Given the description of an element on the screen output the (x, y) to click on. 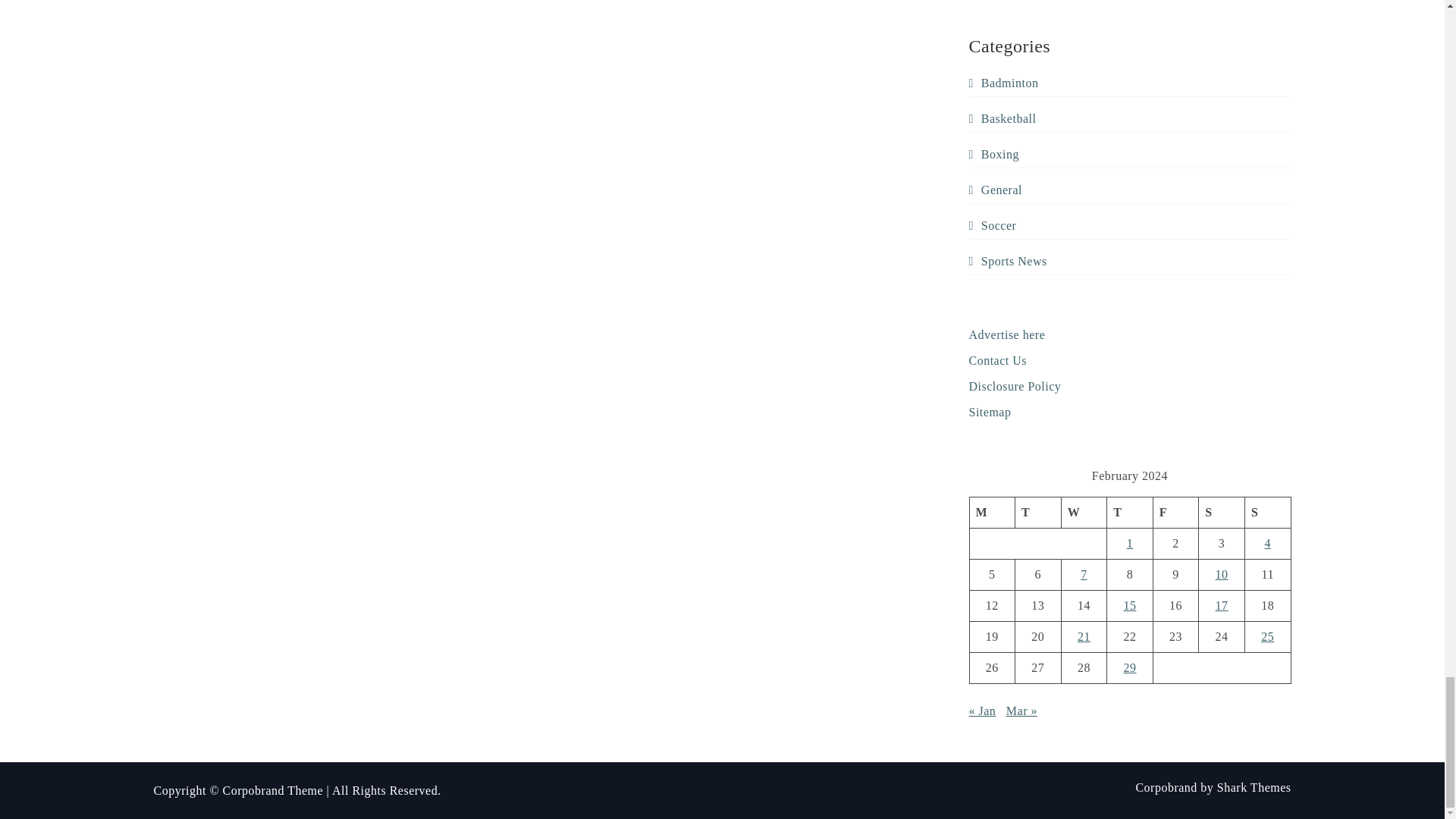
Wednesday (1083, 511)
Friday (1175, 511)
Tuesday (1037, 511)
Saturday (1221, 511)
Sunday (1267, 511)
Thursday (1129, 511)
Monday (991, 511)
